Given the description of an element on the screen output the (x, y) to click on. 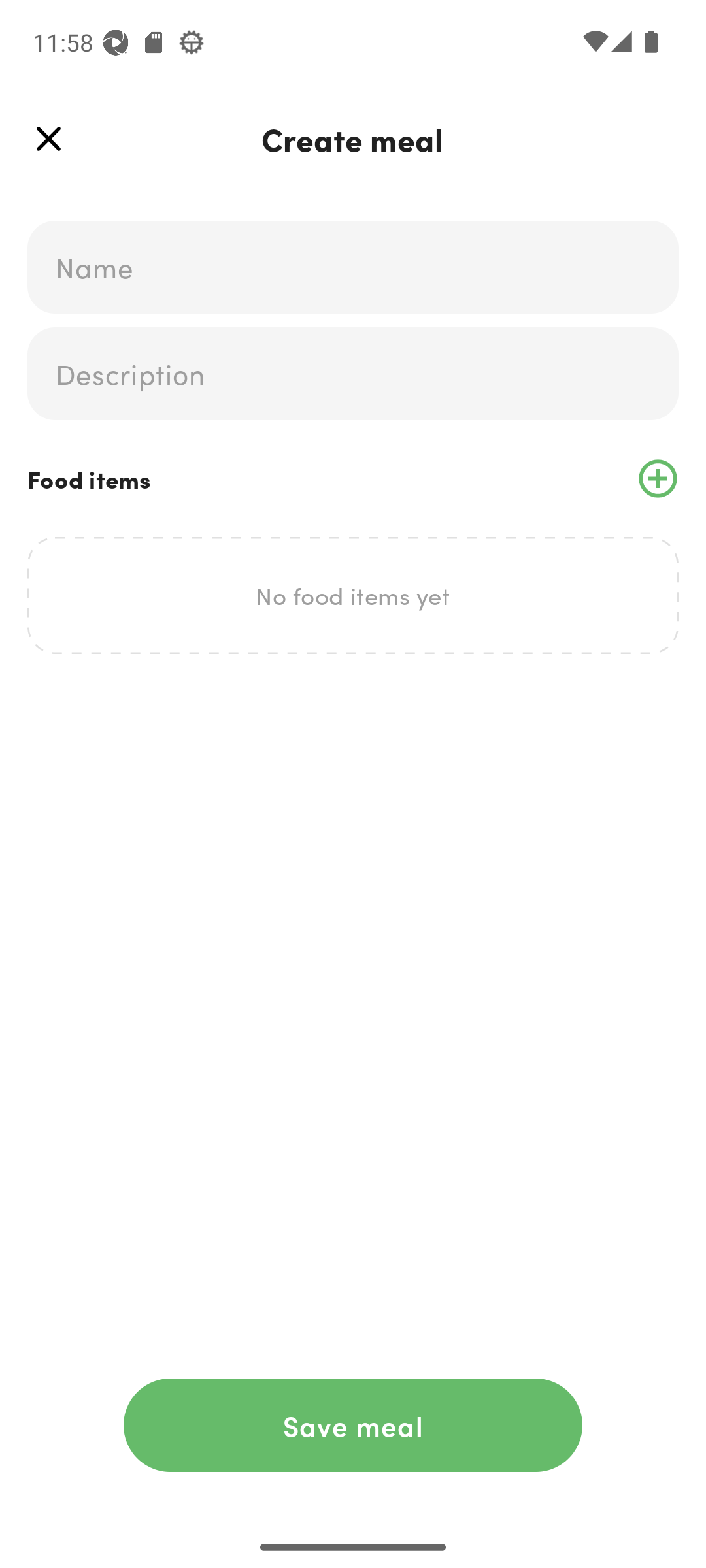
top_left_action (48, 138)
labeled_edit_text Name (352, 267)
labeled_edit_text Description (352, 373)
No food items yet (352, 594)
action_button Save meal (352, 1425)
